Given the description of an element on the screen output the (x, y) to click on. 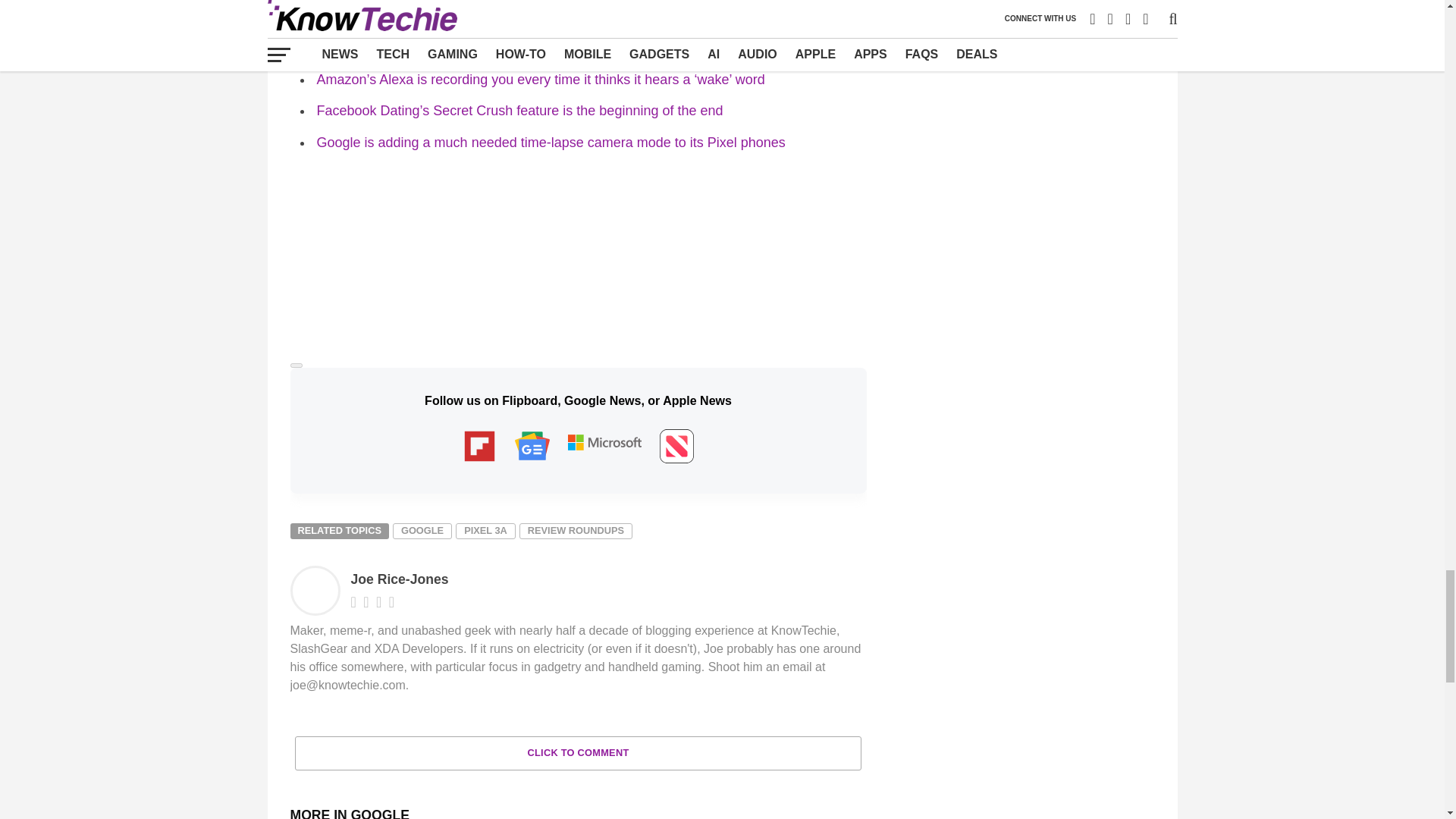
Posts by Joe Rice-Jones (399, 579)
